Given the description of an element on the screen output the (x, y) to click on. 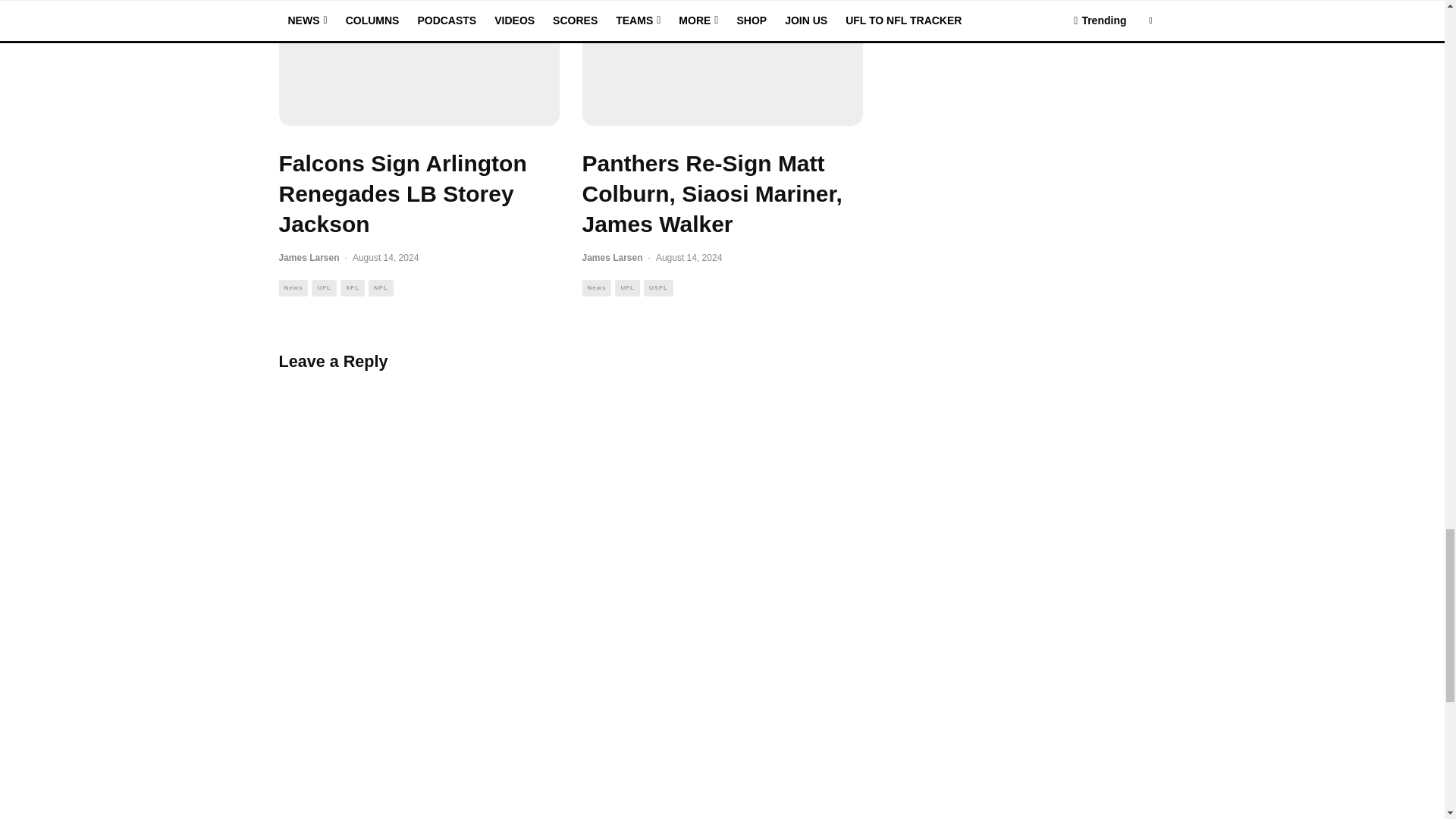
Posts by James Larsen (309, 257)
Posts by James Larsen (612, 257)
